Given the description of an element on the screen output the (x, y) to click on. 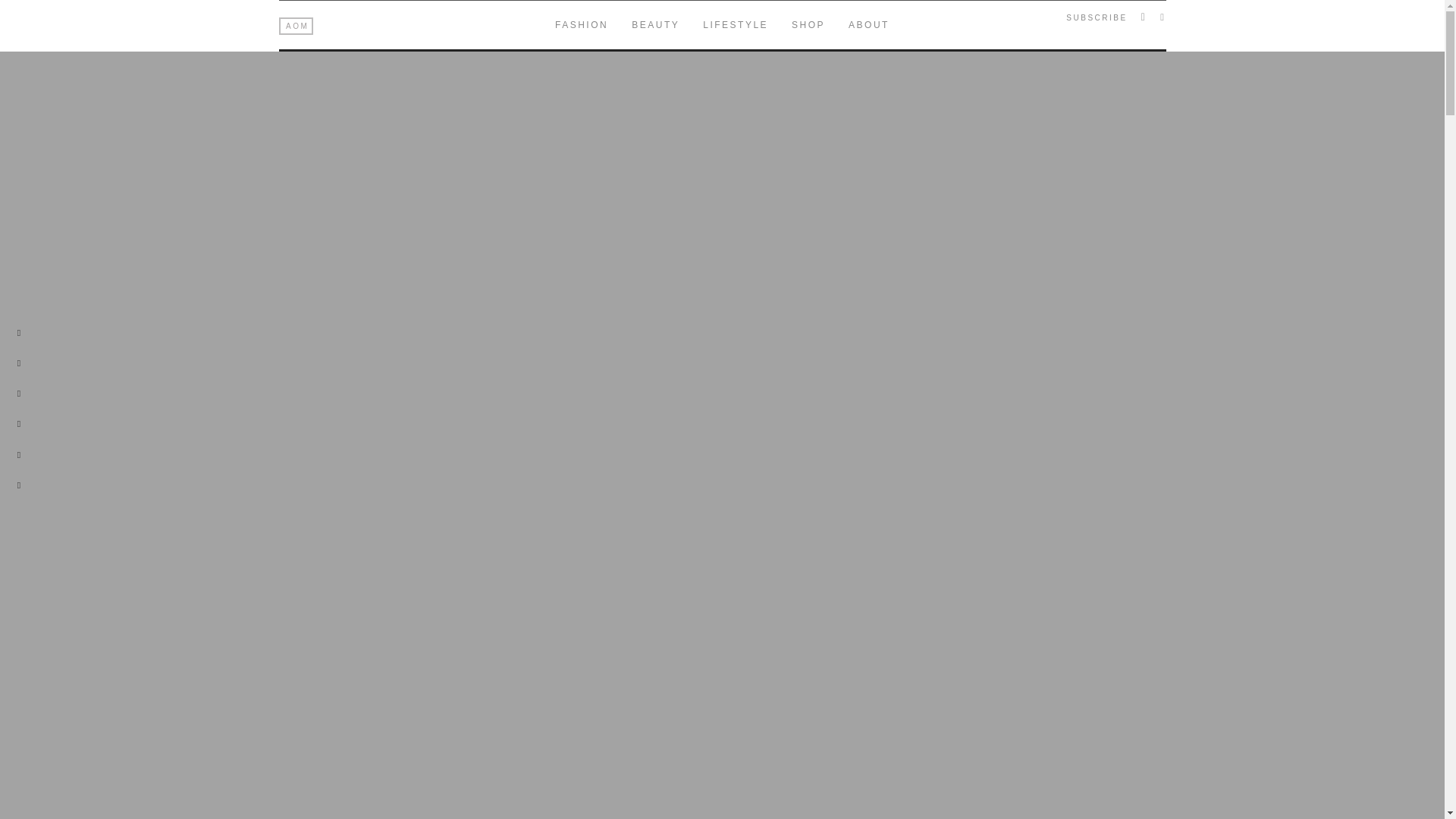
SHOP (808, 24)
BEAUTY (655, 24)
By Aditi Oberoi Malhotra (296, 26)
LIFESTYLE (735, 24)
ABOUT (869, 24)
FASHION (581, 24)
